Given the description of an element on the screen output the (x, y) to click on. 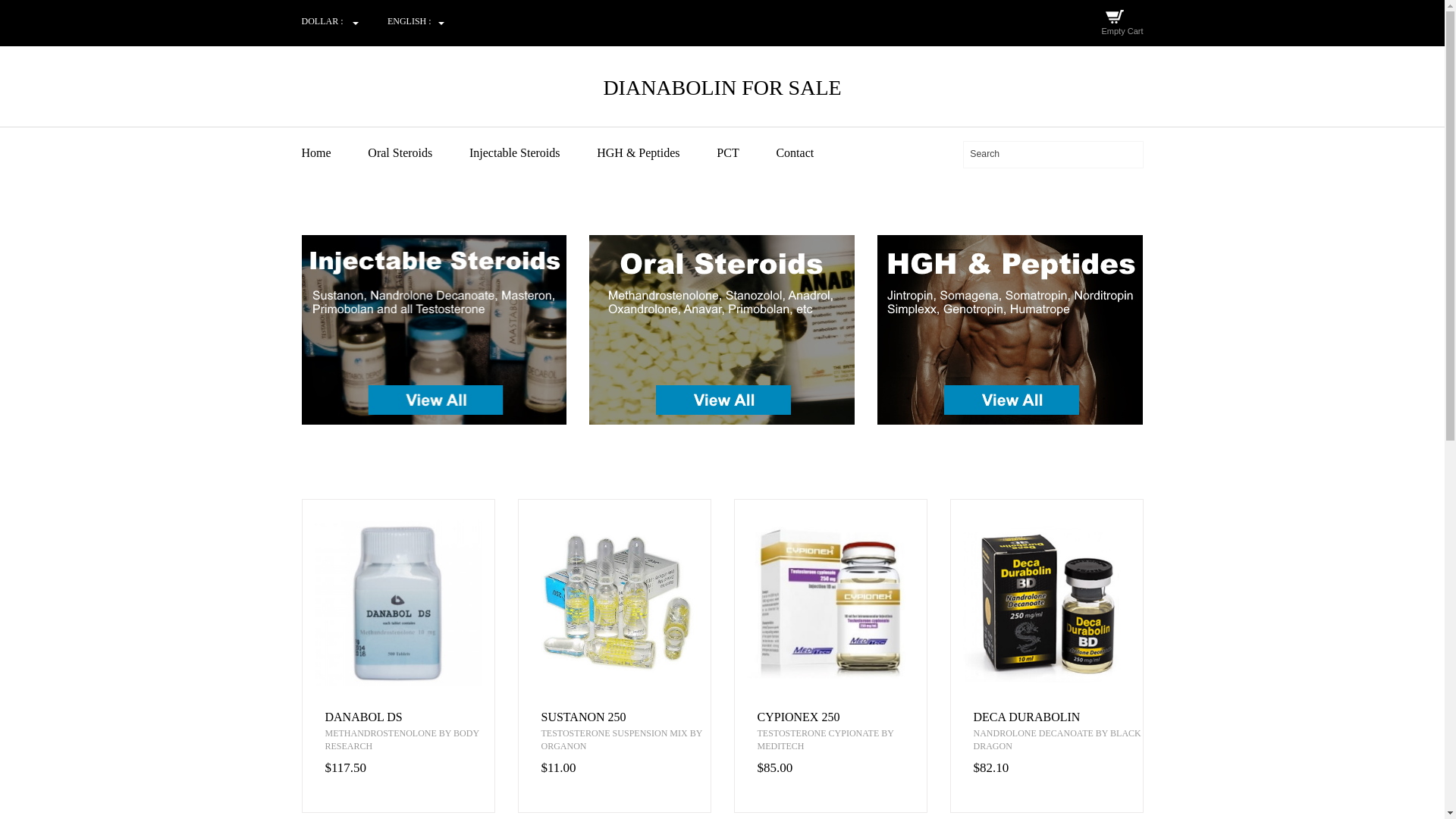
Home (333, 153)
Empty Cart (1121, 31)
Oral Steroids (416, 153)
CYPIONEX 250 (841, 716)
DECA DURABOLIN (1058, 716)
PCT (744, 153)
SUSTANON 250 (625, 716)
DANABOL DS (408, 716)
Injectable Steroids (531, 153)
Contact (811, 153)
Search (1052, 153)
